Given the description of an element on the screen output the (x, y) to click on. 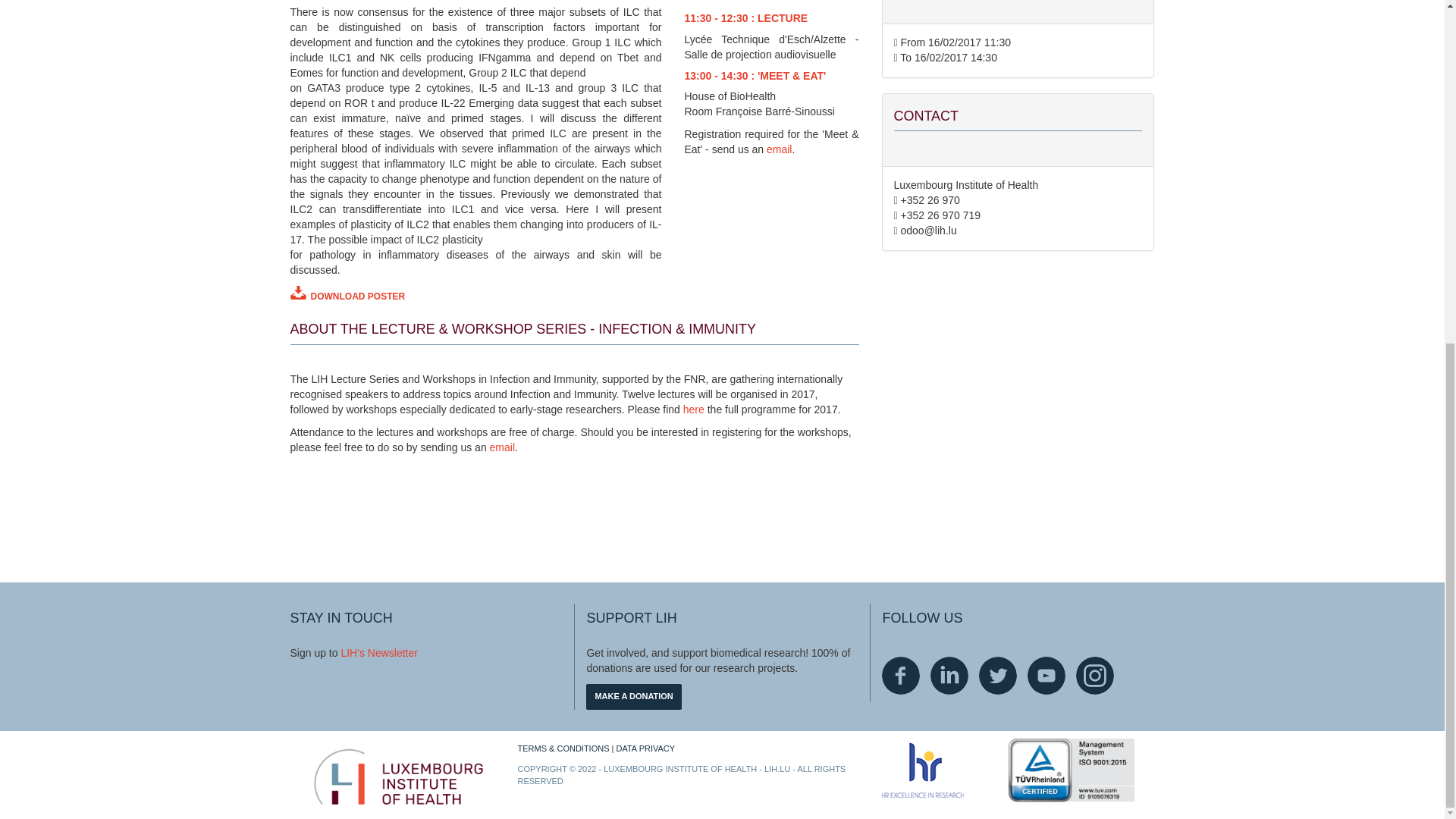
DOWNLOAD POSTER (475, 294)
Youtube (1046, 675)
Twitter (997, 675)
LIH (348, 653)
Instagram (1094, 675)
MAKE A DONATION (633, 696)
email (779, 149)
email (502, 447)
Linkedin (949, 675)
DATA PRIVACY (645, 747)
